Given the description of an element on the screen output the (x, y) to click on. 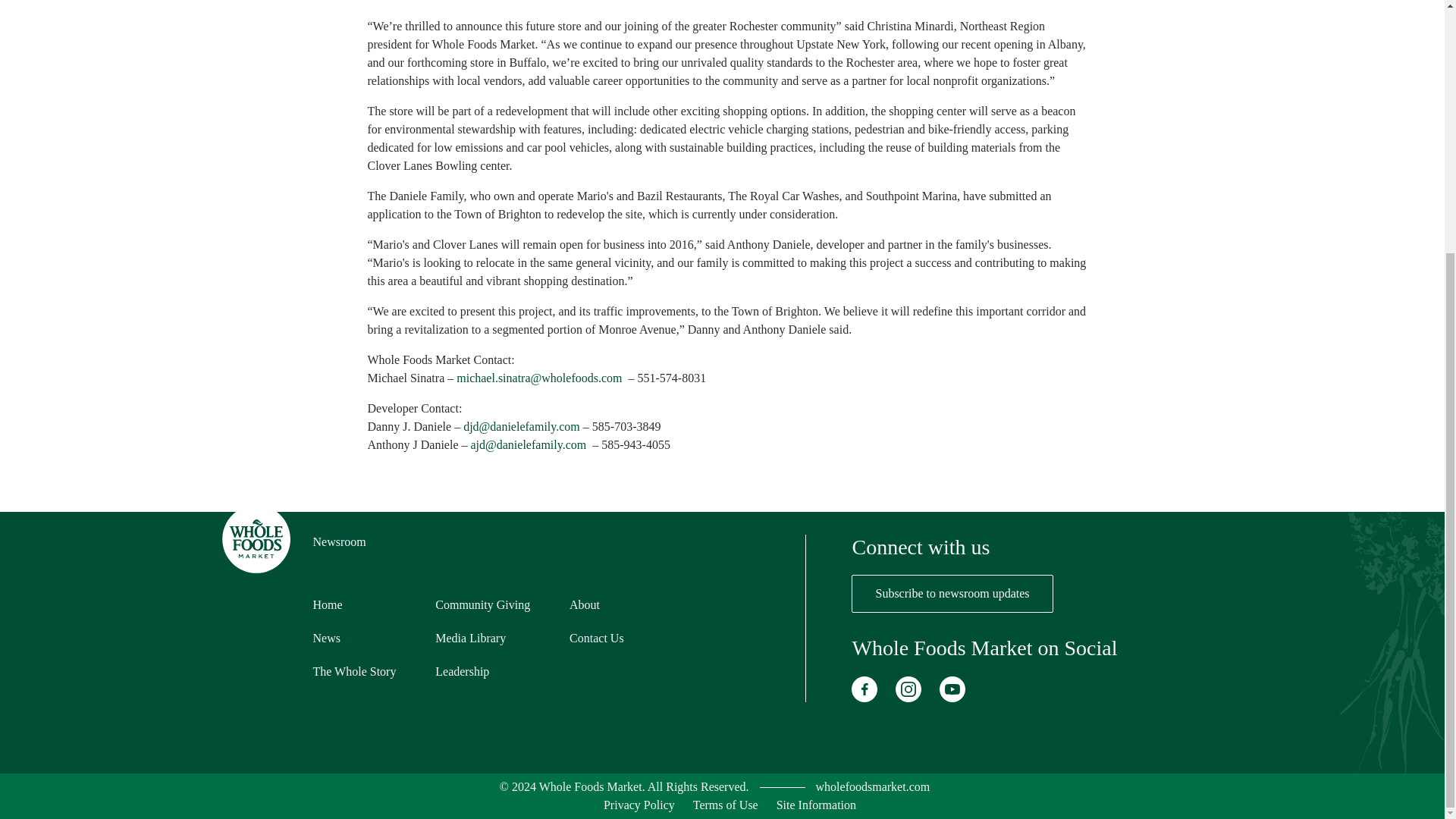
Home (327, 604)
Subscribe (951, 593)
Community Giving (482, 604)
Media Library (470, 637)
Subscribe to newsroom updates (951, 593)
Privacy Policy (639, 804)
News (326, 637)
About (584, 604)
Terms of Use (725, 804)
Contact Us (596, 637)
Leadership (462, 671)
wholefoodsmarket.com (872, 786)
The Whole Story (354, 671)
Whole Foods Market (872, 786)
Site Information (816, 804)
